Given the description of an element on the screen output the (x, y) to click on. 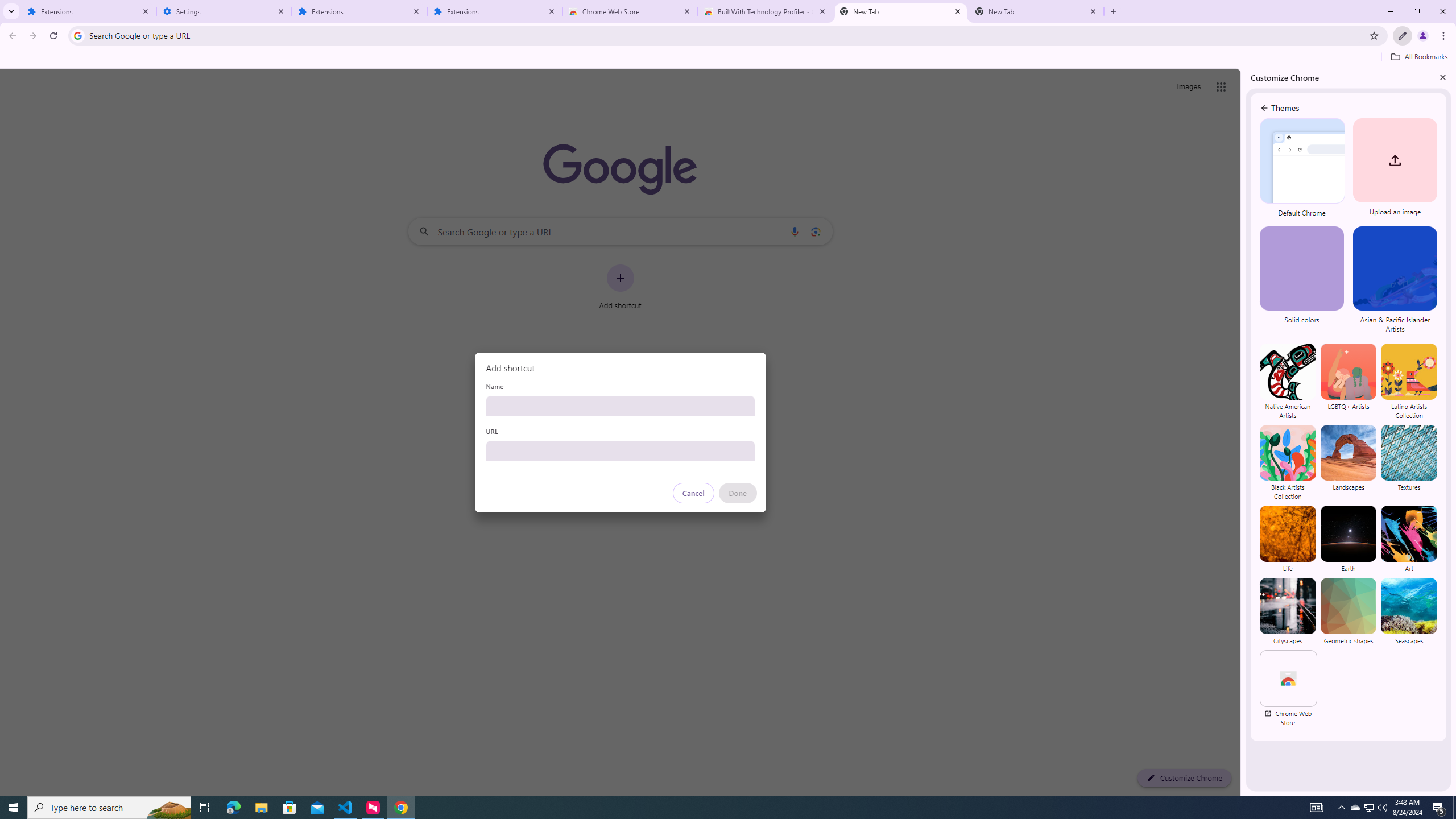
Life (1287, 539)
Art (1408, 539)
Name (620, 405)
Upload an image (1393, 168)
Settings (224, 11)
Seascapes (1408, 611)
Side Panel Resize Handle (1242, 431)
LGBTQ+ Artists (1348, 381)
